Given the description of an element on the screen output the (x, y) to click on. 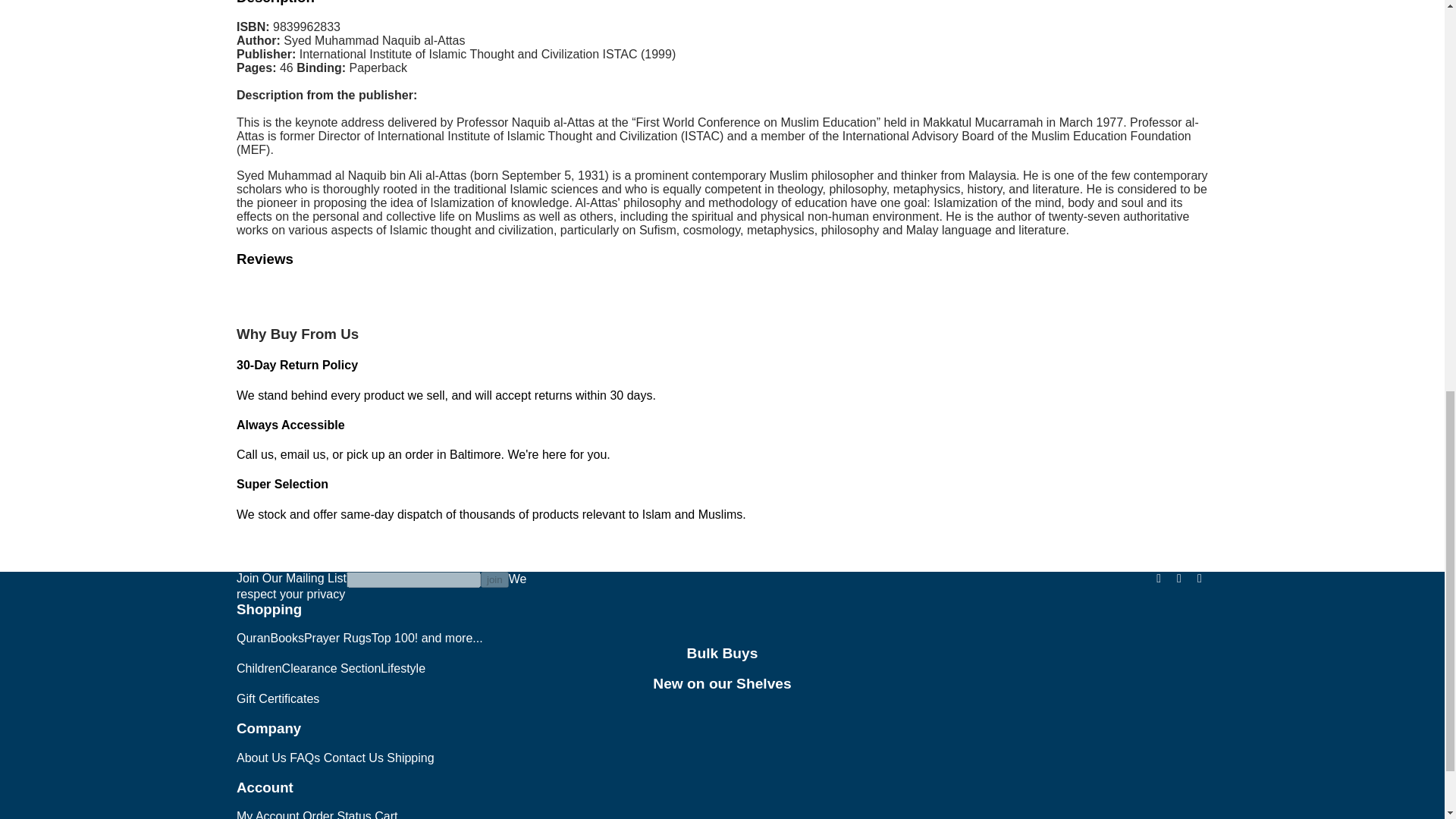
We respect your privacy (380, 586)
join (494, 579)
Description (274, 2)
join (494, 579)
Reviews (264, 258)
